Given the description of an element on the screen output the (x, y) to click on. 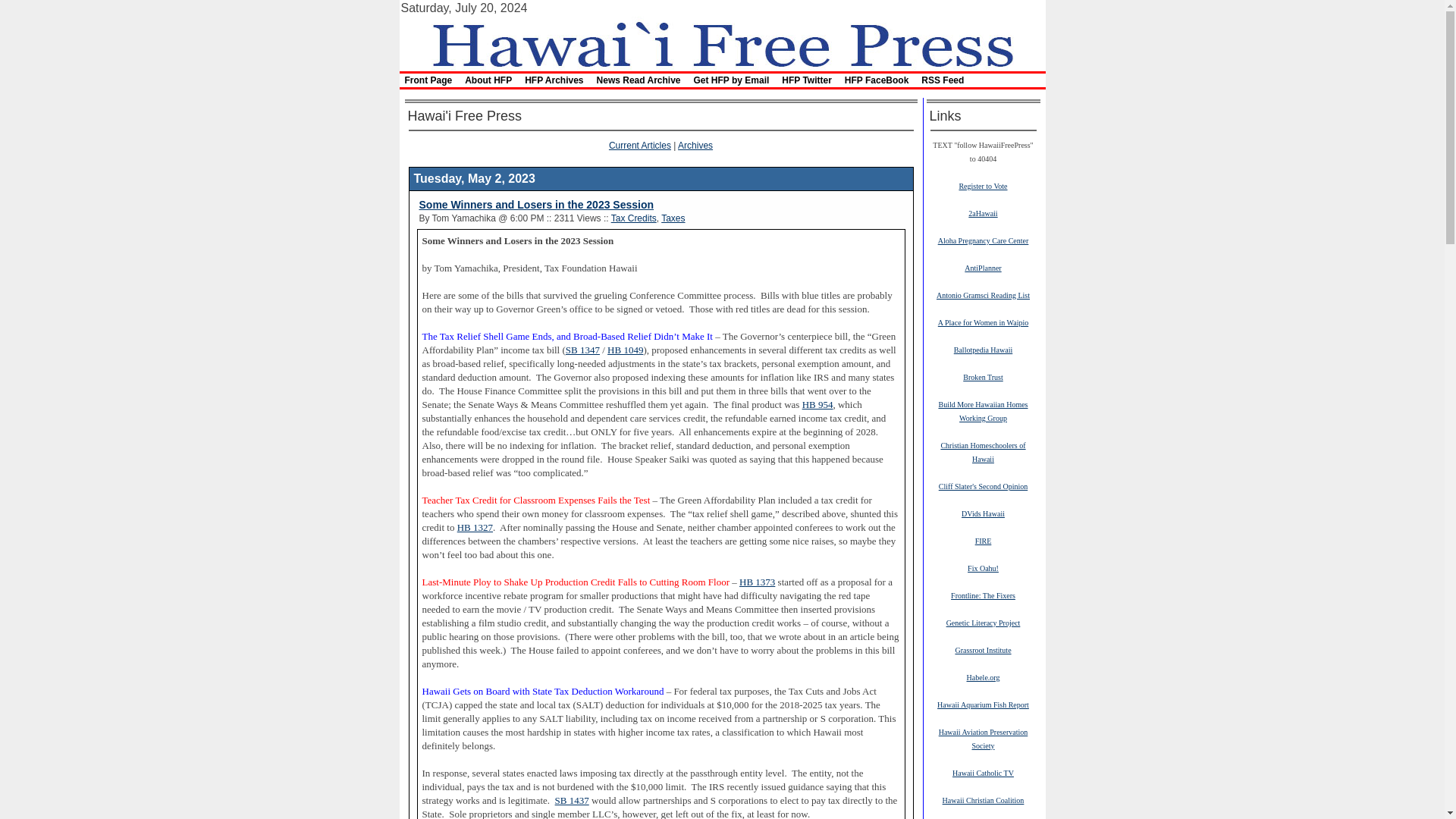
SB 1347 (582, 349)
Taxes (672, 217)
HB 1373 (756, 582)
Hawaii Catholic TV (982, 772)
Broken Trust (982, 376)
Frontline: The Fixers (982, 594)
DVids Hawaii (982, 512)
FIRE (983, 540)
Ballotpedia Hawaii (982, 348)
Current Articles (639, 145)
Grassroot Institute (982, 649)
Build More Hawaiian Homes Working Group (982, 410)
Habele.org (983, 676)
Fix Oahu! (983, 567)
Christian Homeschoolers of Hawaii (982, 451)
